Given the description of an element on the screen output the (x, y) to click on. 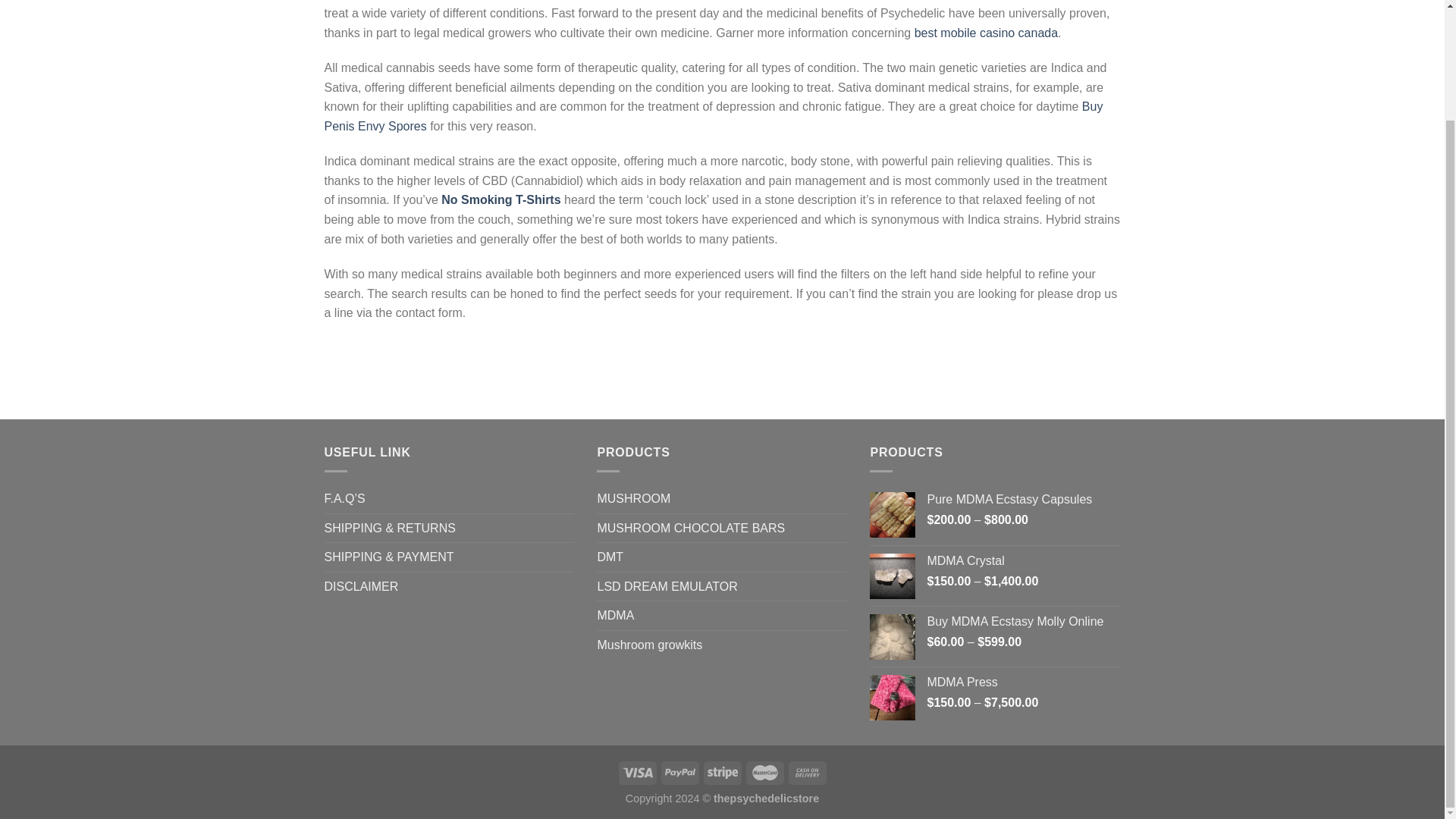
DMT (609, 556)
best mobile casino canada (986, 32)
MUSHROOM CHOCOLATE BARS (690, 528)
DISCLAIMER (361, 586)
MDMA Press (1022, 682)
LSD DREAM EMULATOR (666, 586)
Mushroom growkits (648, 645)
MUSHROOM (632, 498)
Buy MDMA Ecstasy Molly Online (1022, 621)
Buy Penis Envy Spores (713, 115)
